Given the description of an element on the screen output the (x, y) to click on. 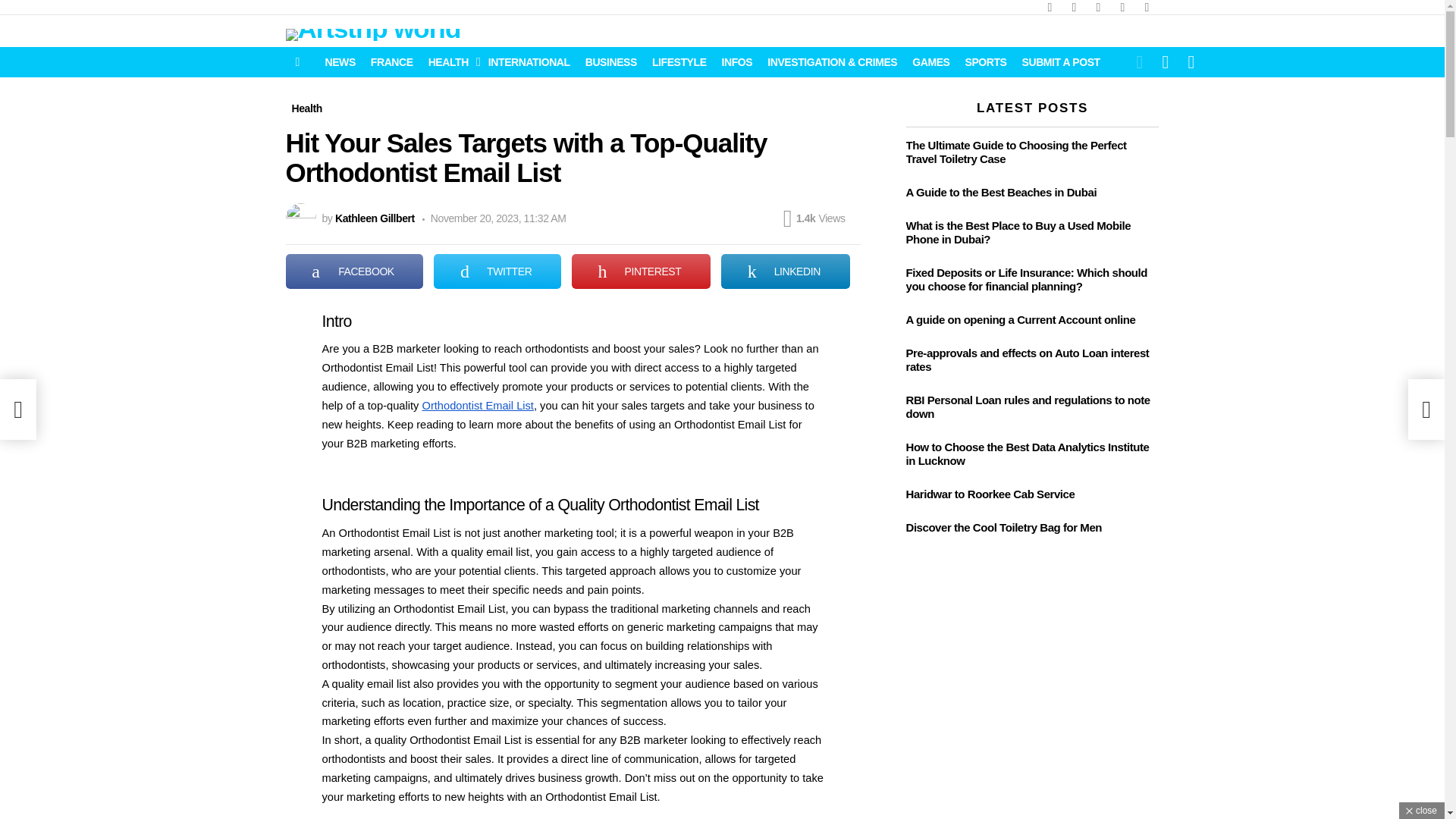
GAMES (930, 61)
TWITTER (496, 271)
twitter (1073, 7)
PINTEREST (641, 271)
HEALTH (450, 61)
Share on LinkedIn (784, 271)
youtube (1146, 7)
pinterest (1121, 7)
Share on Twitter (496, 271)
INFOS (737, 61)
